Given the description of an element on the screen output the (x, y) to click on. 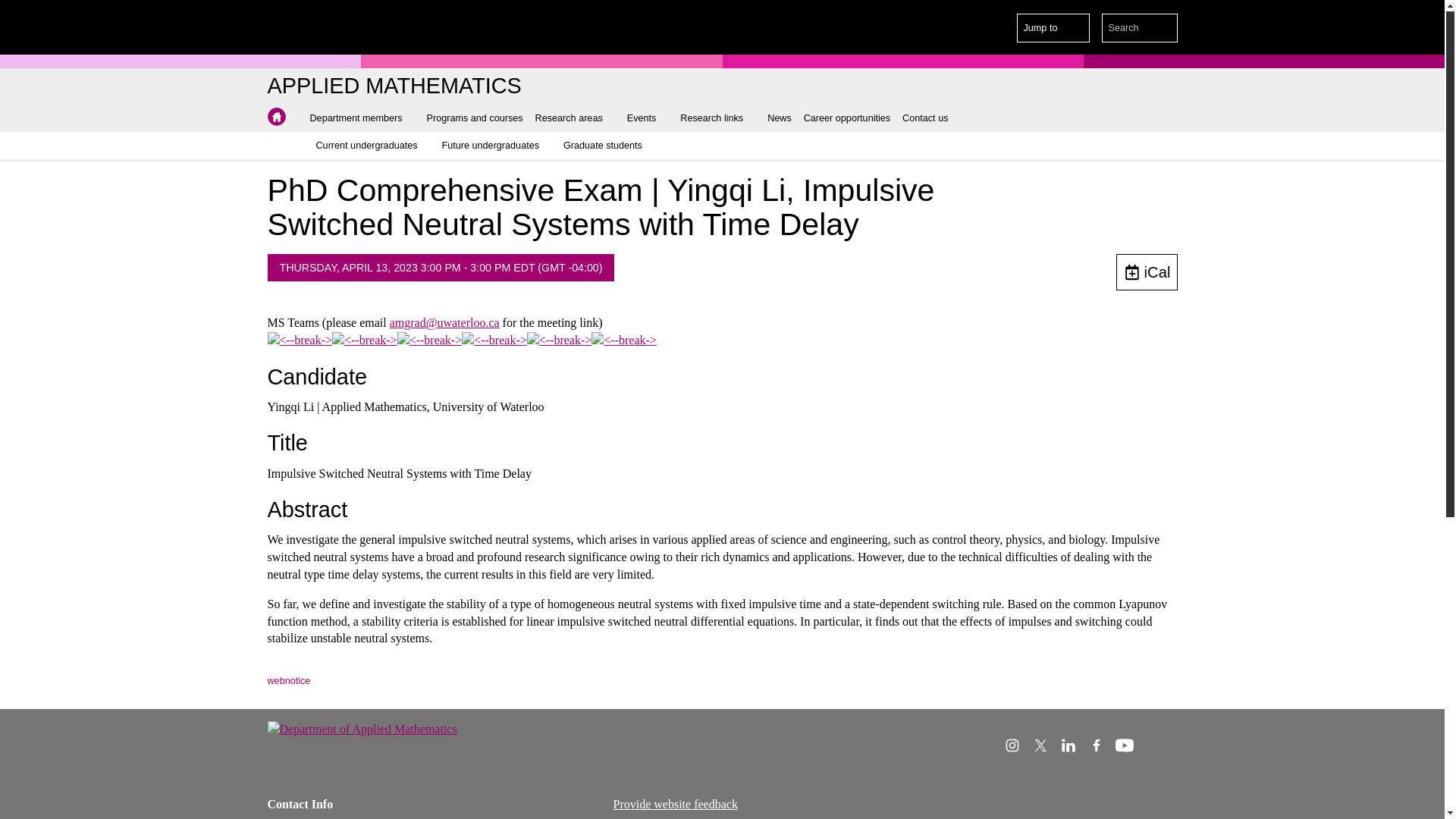
Events (648, 117)
Applied Mathematics Home (393, 85)
Jump to (1053, 27)
Search (1163, 27)
Department members (361, 117)
APPLIED MATHEMATICS (393, 85)
Applied Mathematics Home (275, 116)
Applied Mathematics Home (275, 116)
Programs and courses (474, 117)
Research areas (575, 117)
